Given the description of an element on the screen output the (x, y) to click on. 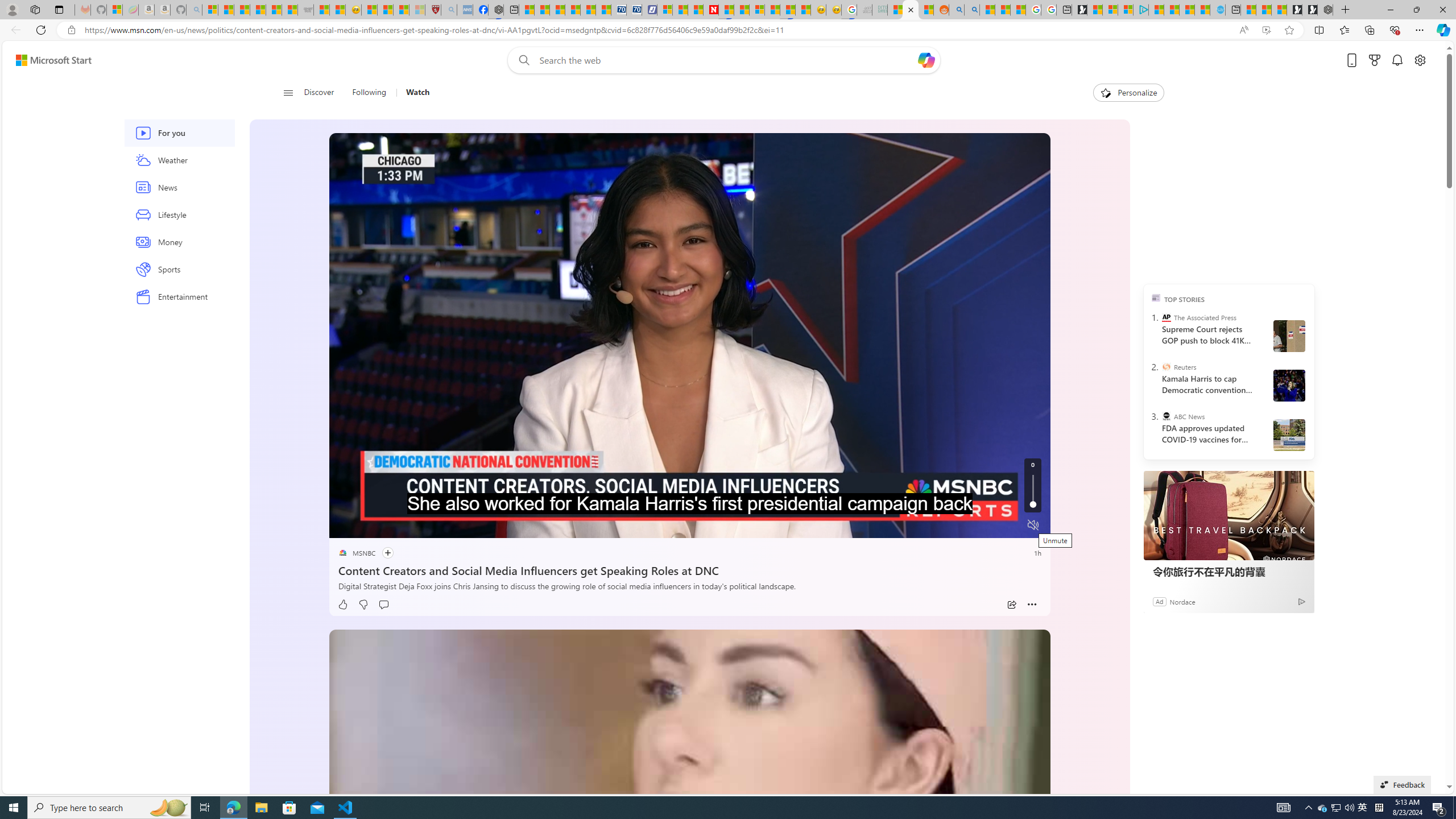
New Report Confirms 2023 Was Record Hot | Watch (273, 9)
12 Popular Science Lies that Must be Corrected - Sleeping (416, 9)
